Given the description of an element on the screen output the (x, y) to click on. 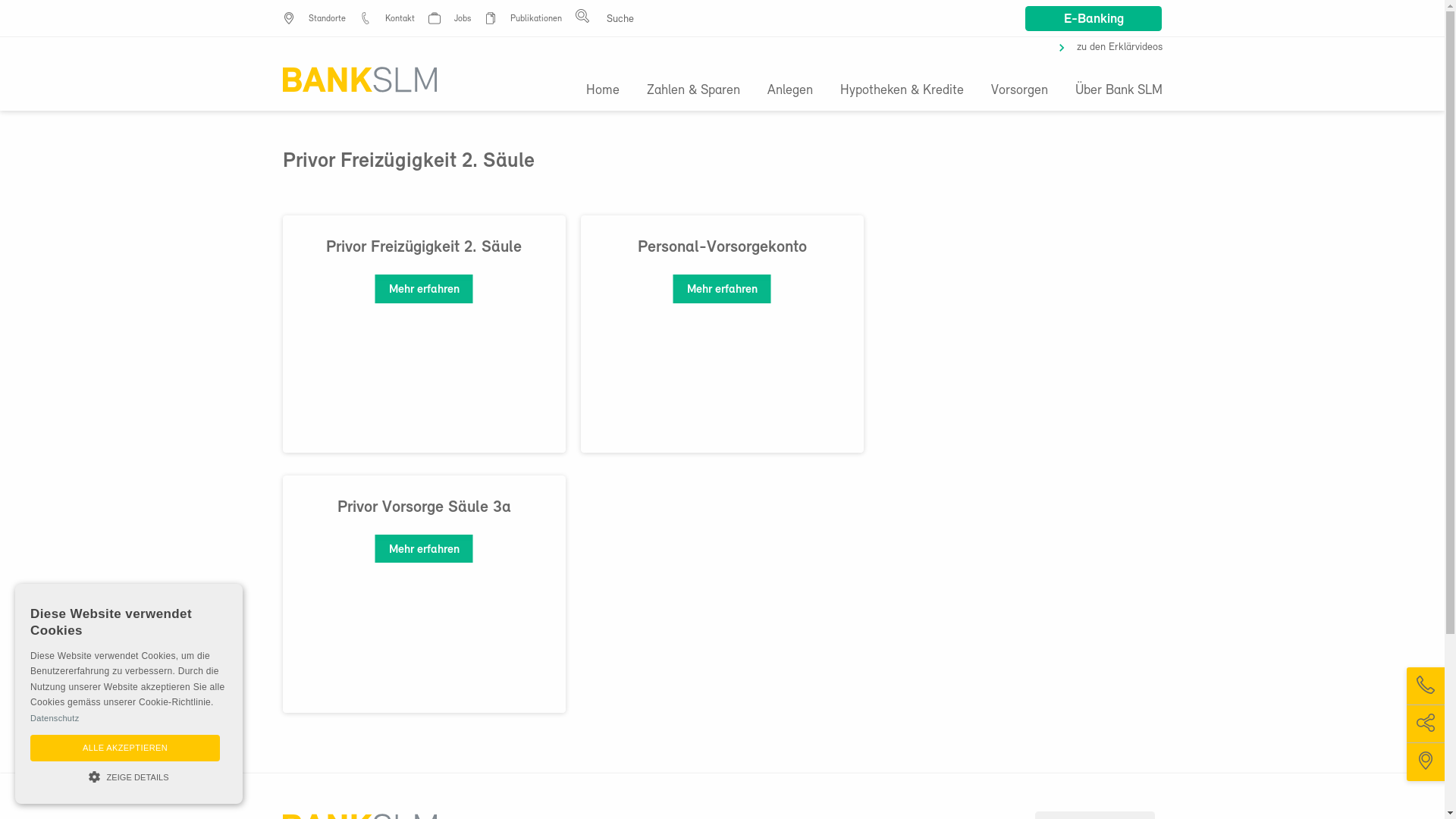
Home Element type: text (608, 90)
Vorsorgen Element type: text (1018, 90)
Anlegen Element type: text (789, 90)
Suche Element type: text (987, 112)
Jobs Element type: text (461, 18)
E-Banking Element type: text (1093, 18)
Datenschutz Element type: text (54, 717)
Standorte Element type: text (326, 18)
Hypotheken & Kredite Element type: text (901, 90)
Bank SLM Element type: text (359, 79)
Publikationen Element type: text (535, 18)
Kontakt Element type: text (399, 18)
Suche Element type: text (23, 10)
Zahlen & Sparen Element type: text (692, 90)
